Given the description of an element on the screen output the (x, y) to click on. 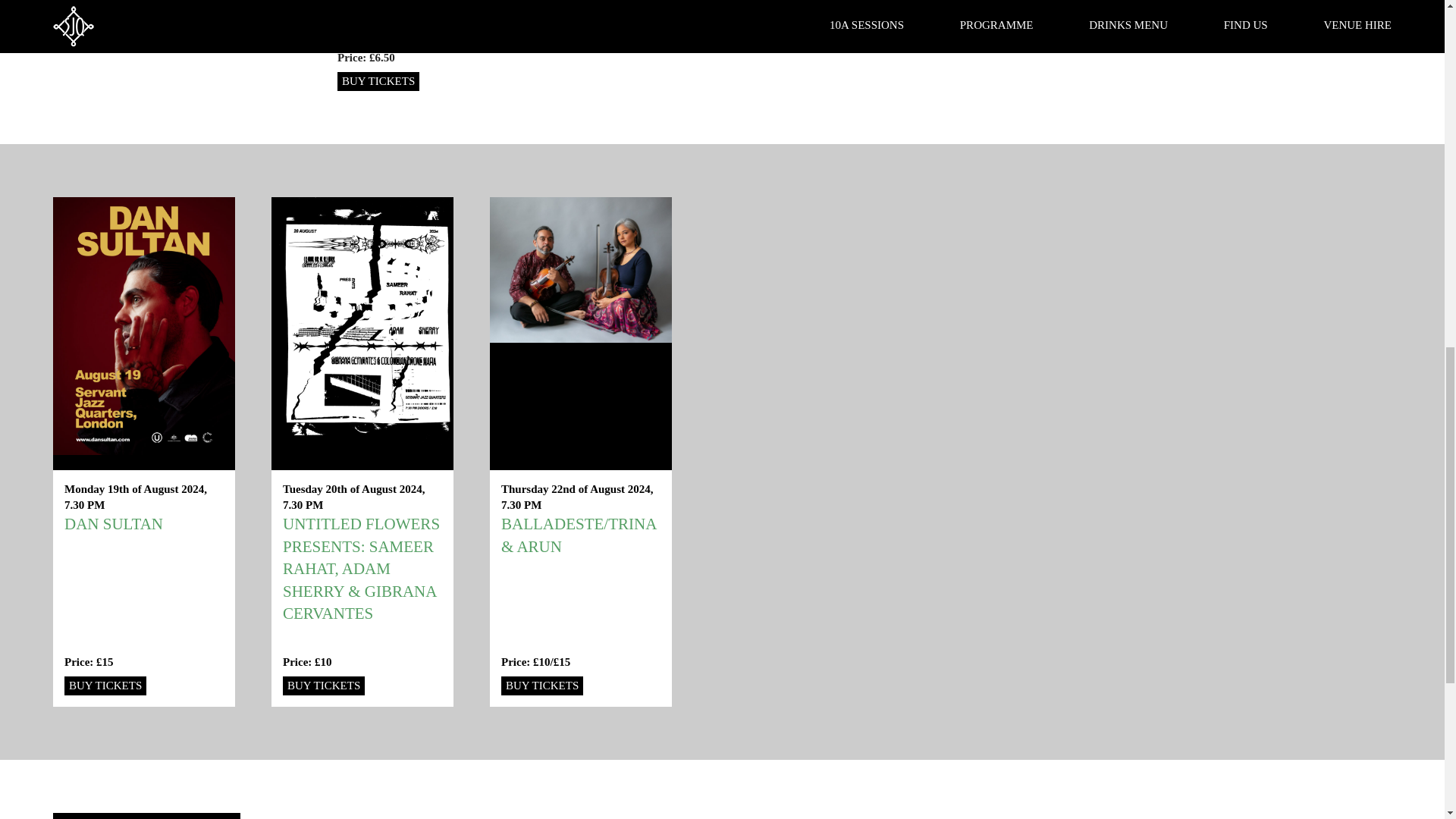
BUY TICKETS (541, 685)
BUY TICKETS (105, 685)
DAN SULTAN (113, 524)
BUY TICKETS (378, 81)
PAT DAM SMYTH (851, 9)
SEE FULL PROGRAMME (146, 816)
BUY TICKETS (323, 685)
